Given the description of an element on the screen output the (x, y) to click on. 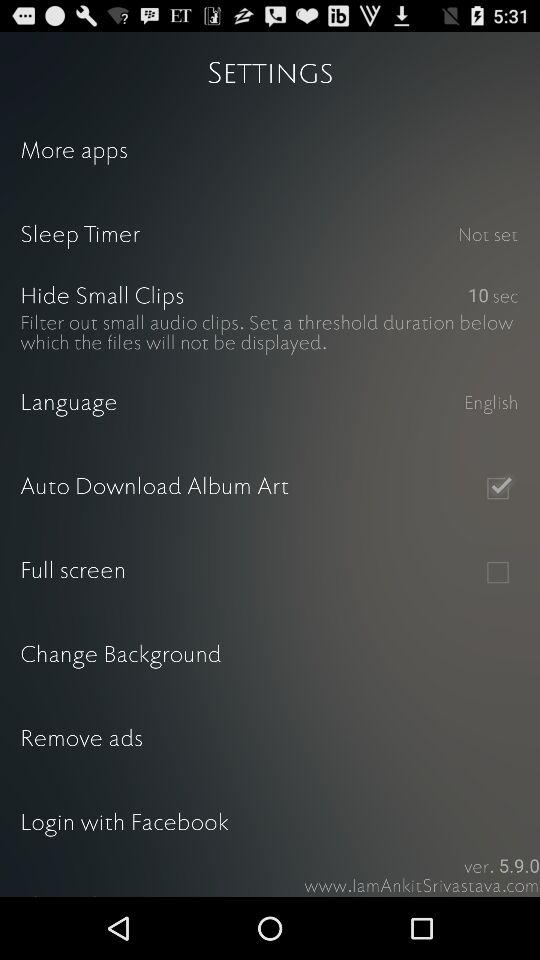
toggle full screen (498, 572)
